Given the description of an element on the screen output the (x, y) to click on. 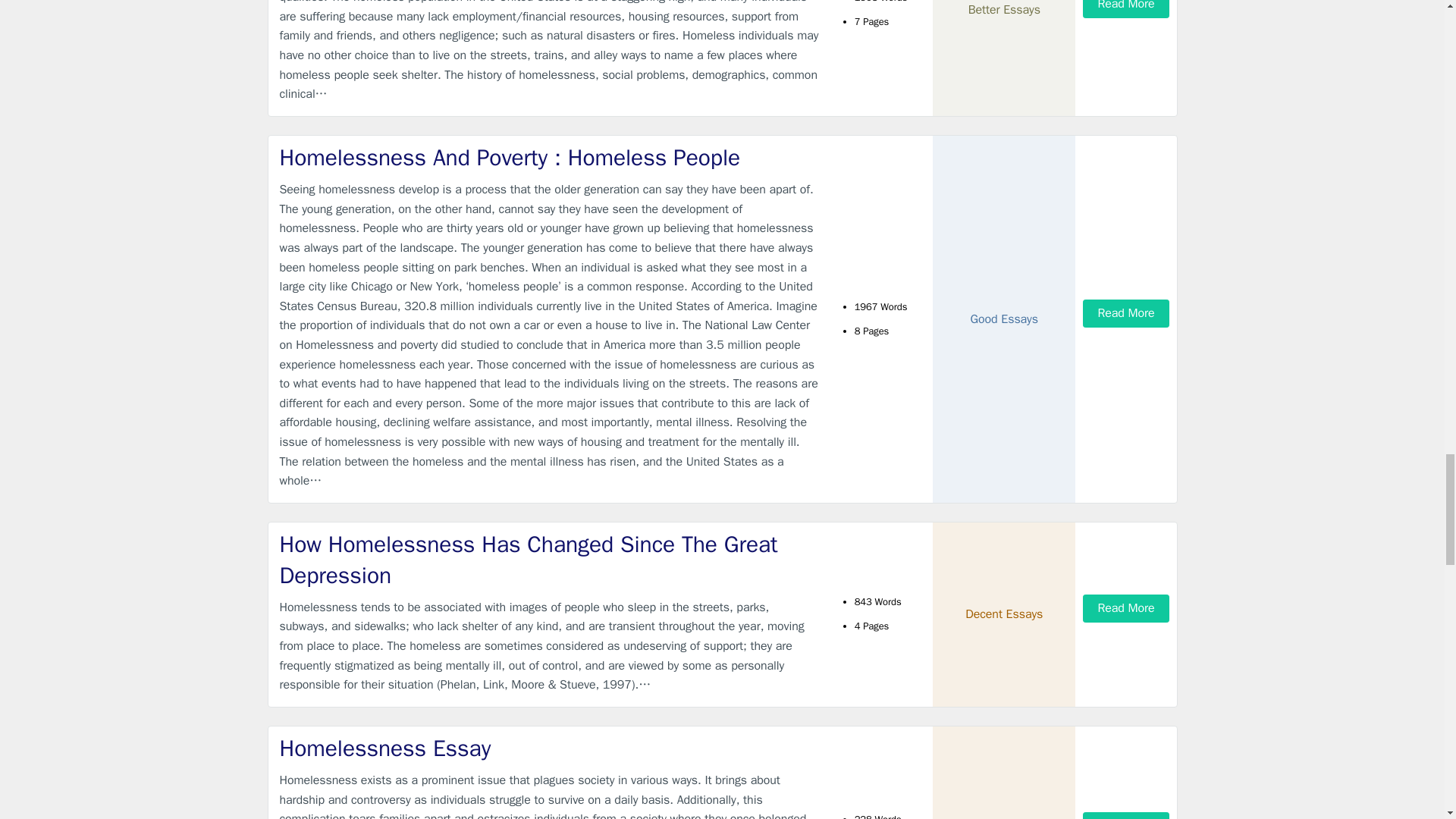
Read More (1126, 9)
